Given the description of an element on the screen output the (x, y) to click on. 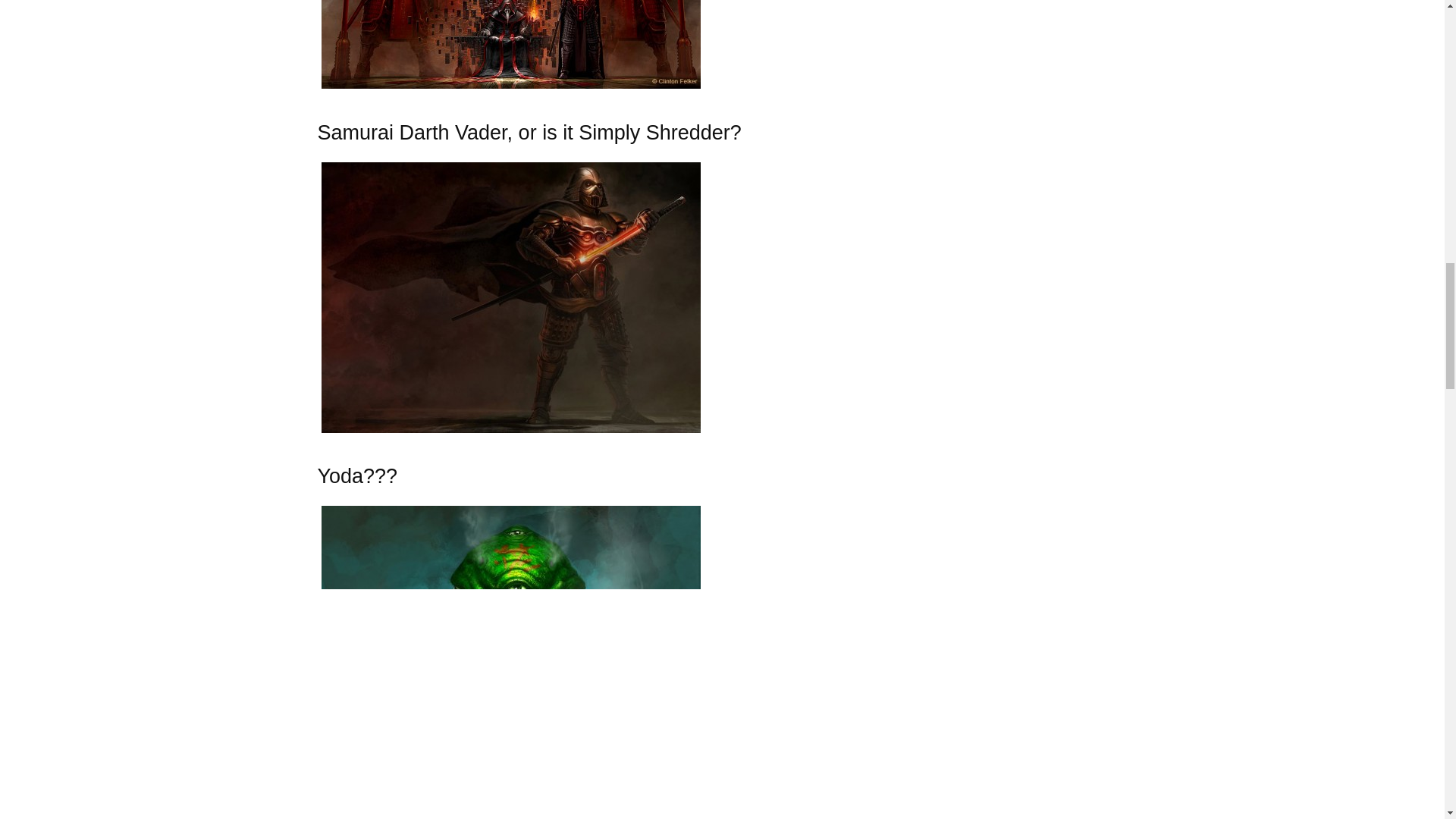
Yoda Japan (510, 662)
Japan Emperor (510, 44)
Darth Vader Japan (510, 297)
